Given the description of an element on the screen output the (x, y) to click on. 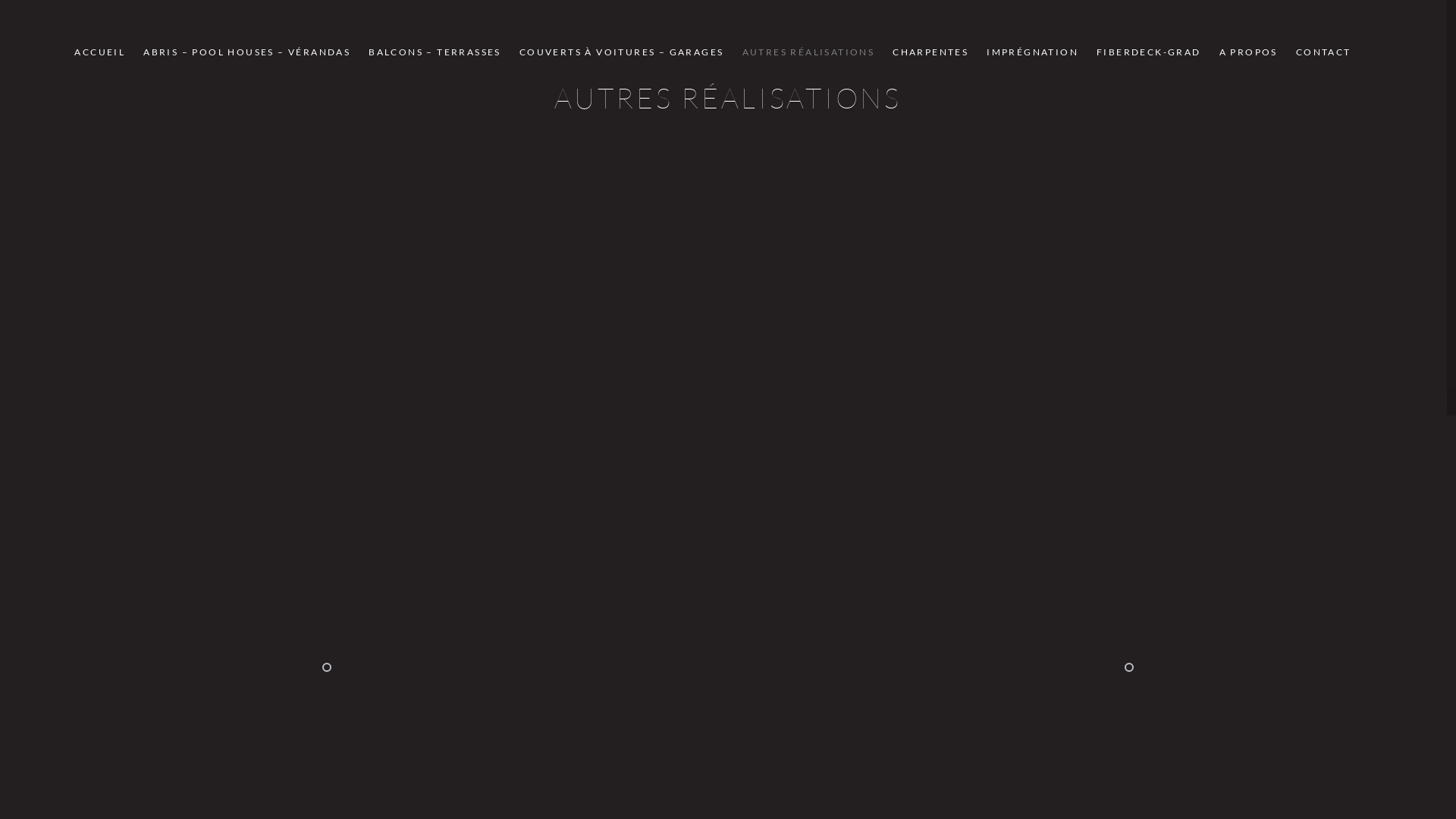
Previous Element type: text (326, 666)
FIBERDECK-GRAD Element type: text (1148, 51)
ACCUEIL Element type: text (99, 51)
A PROPOS Element type: text (1248, 51)
CONTACT Element type: text (1323, 51)
Next Element type: text (1128, 666)
CHARPENTES Element type: text (930, 51)
